Given the description of an element on the screen output the (x, y) to click on. 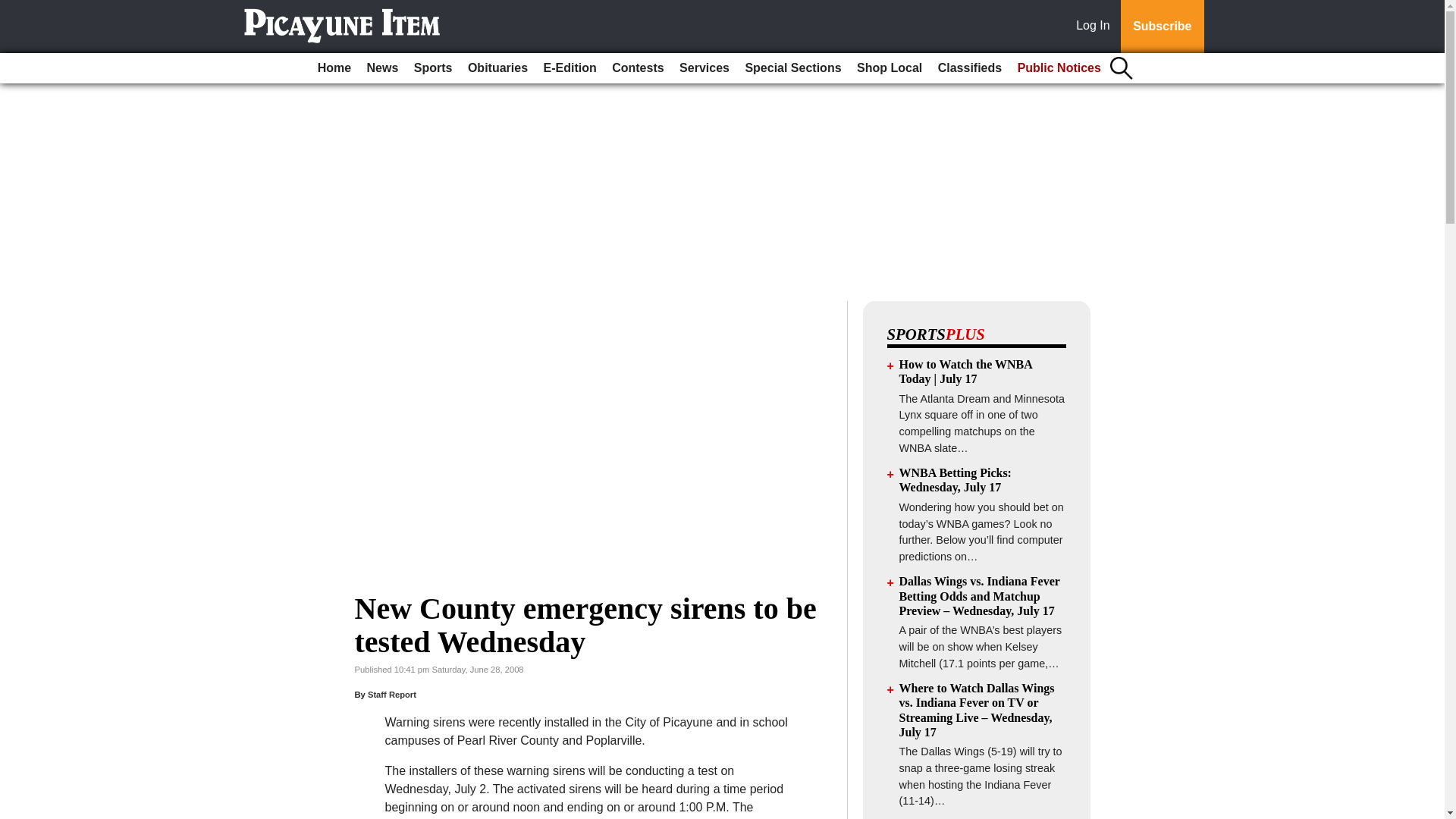
WNBA Betting Picks: Wednesday, July 17 (955, 479)
Home (333, 68)
Classifieds (969, 68)
Special Sections (792, 68)
E-Edition (569, 68)
Shop Local (889, 68)
Subscribe (1162, 26)
Public Notices (1058, 68)
Obituaries (497, 68)
Sports (432, 68)
Staff Report (392, 694)
Go (13, 9)
Services (703, 68)
News (382, 68)
Contests (637, 68)
